Given the description of an element on the screen output the (x, y) to click on. 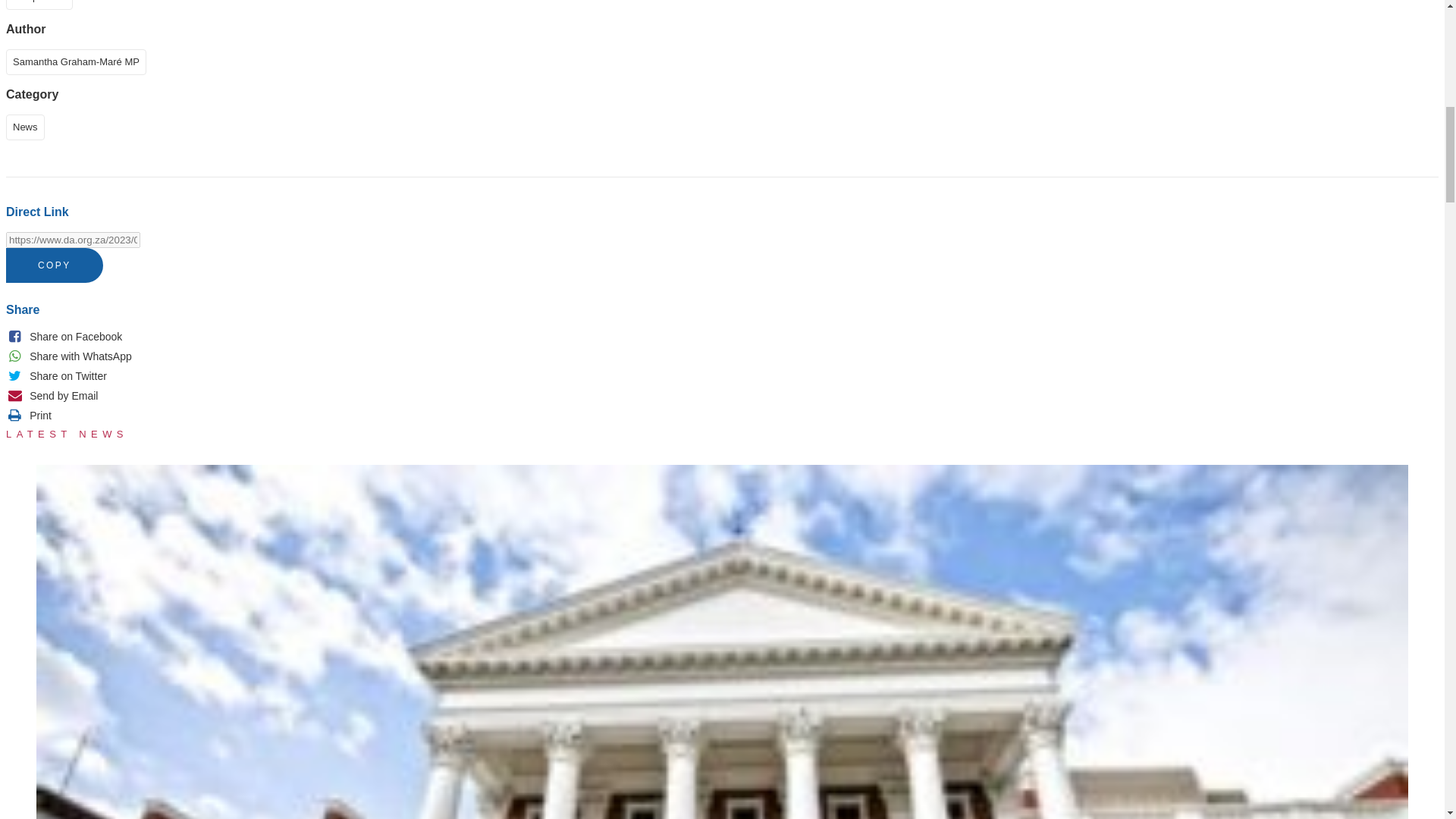
Share on Facebook (63, 336)
Send by Email (51, 395)
News (27, 125)
Print (27, 415)
Share with WhatsApp (68, 356)
Share on Twitter (55, 376)
COPY (54, 265)
